Given the description of an element on the screen output the (x, y) to click on. 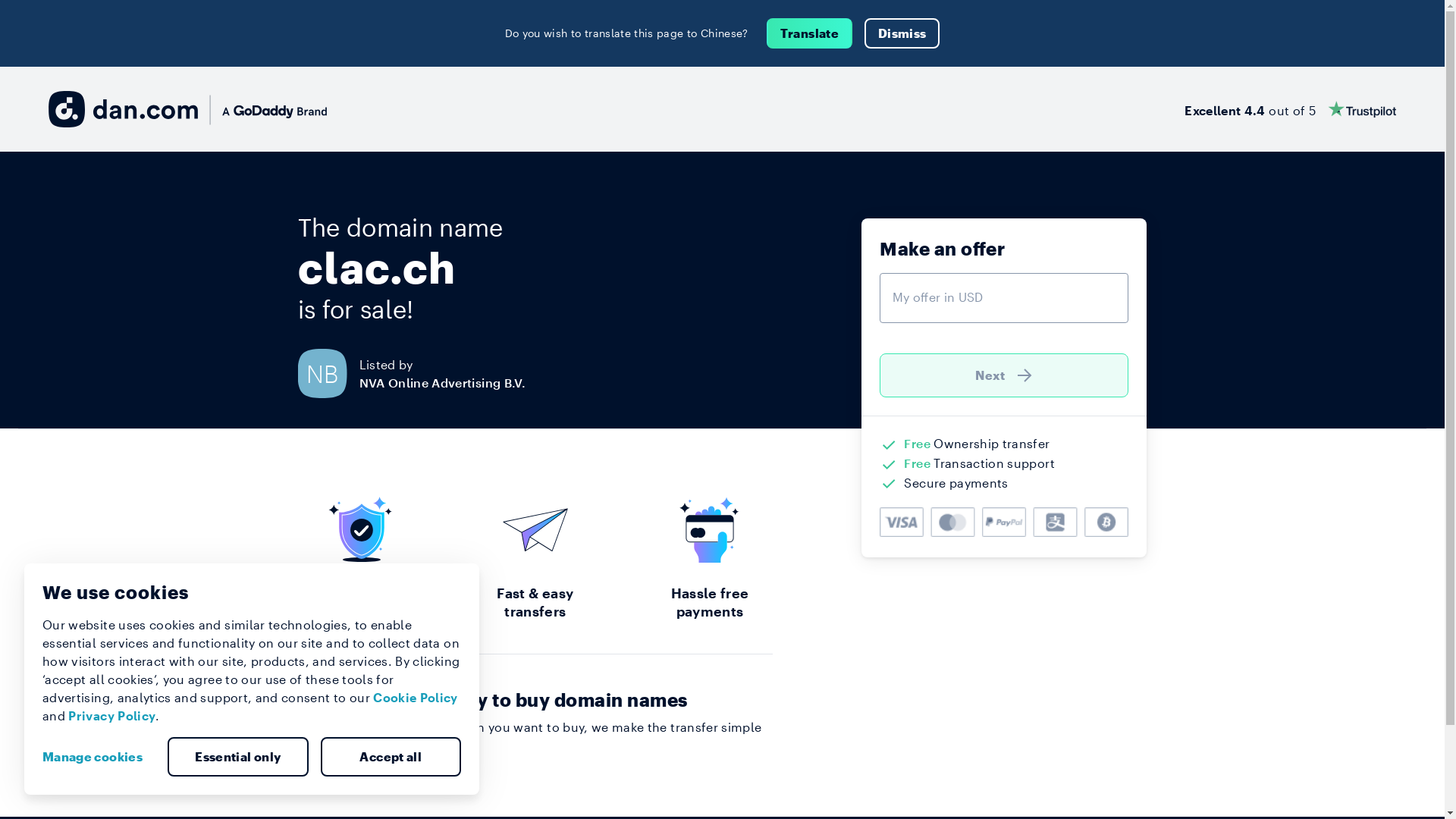
Dismiss Element type: text (901, 33)
Translate Element type: text (809, 33)
Excellent 4.4 out of 5 Element type: text (1290, 109)
Next
) Element type: text (1003, 375)
Accept all Element type: text (390, 756)
Manage cookies Element type: text (98, 756)
Cookie Policy Element type: text (415, 697)
Essential only Element type: text (237, 756)
Privacy Policy Element type: text (111, 715)
